Given the description of an element on the screen output the (x, y) to click on. 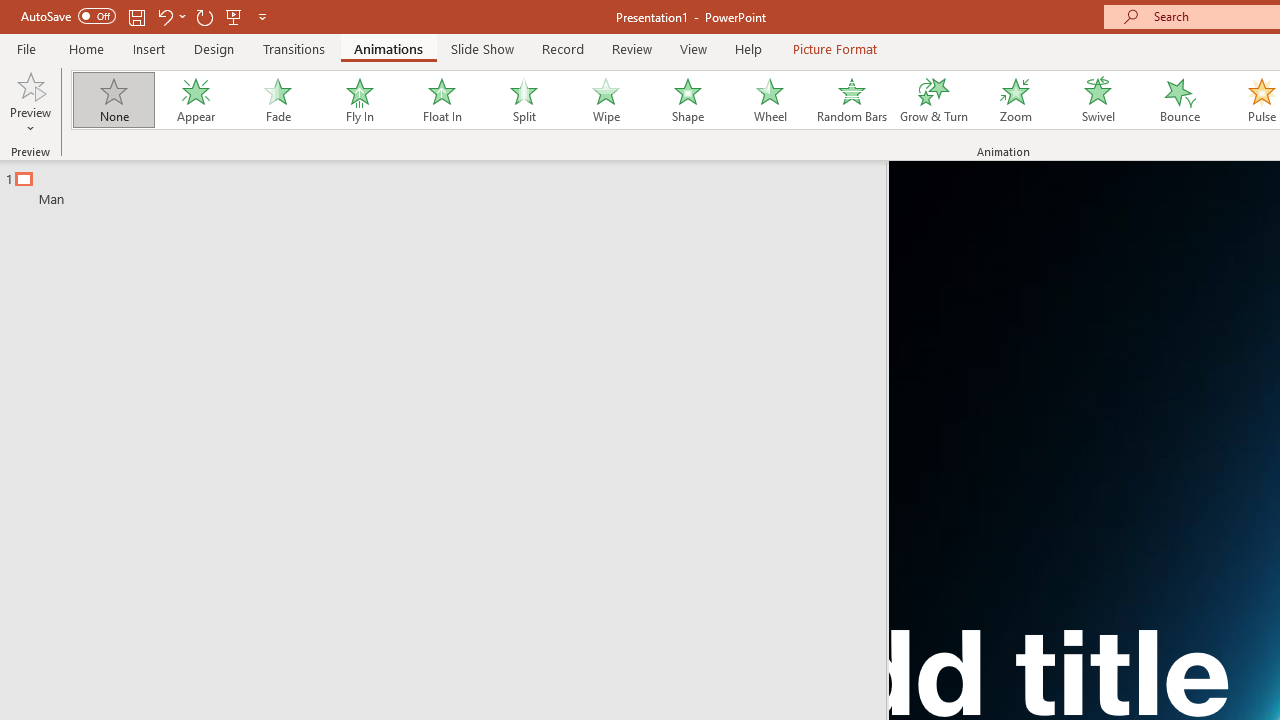
Float In (441, 100)
Picture Format (834, 48)
Appear (195, 100)
Wheel (770, 100)
Bounce (1180, 100)
